Given the description of an element on the screen output the (x, y) to click on. 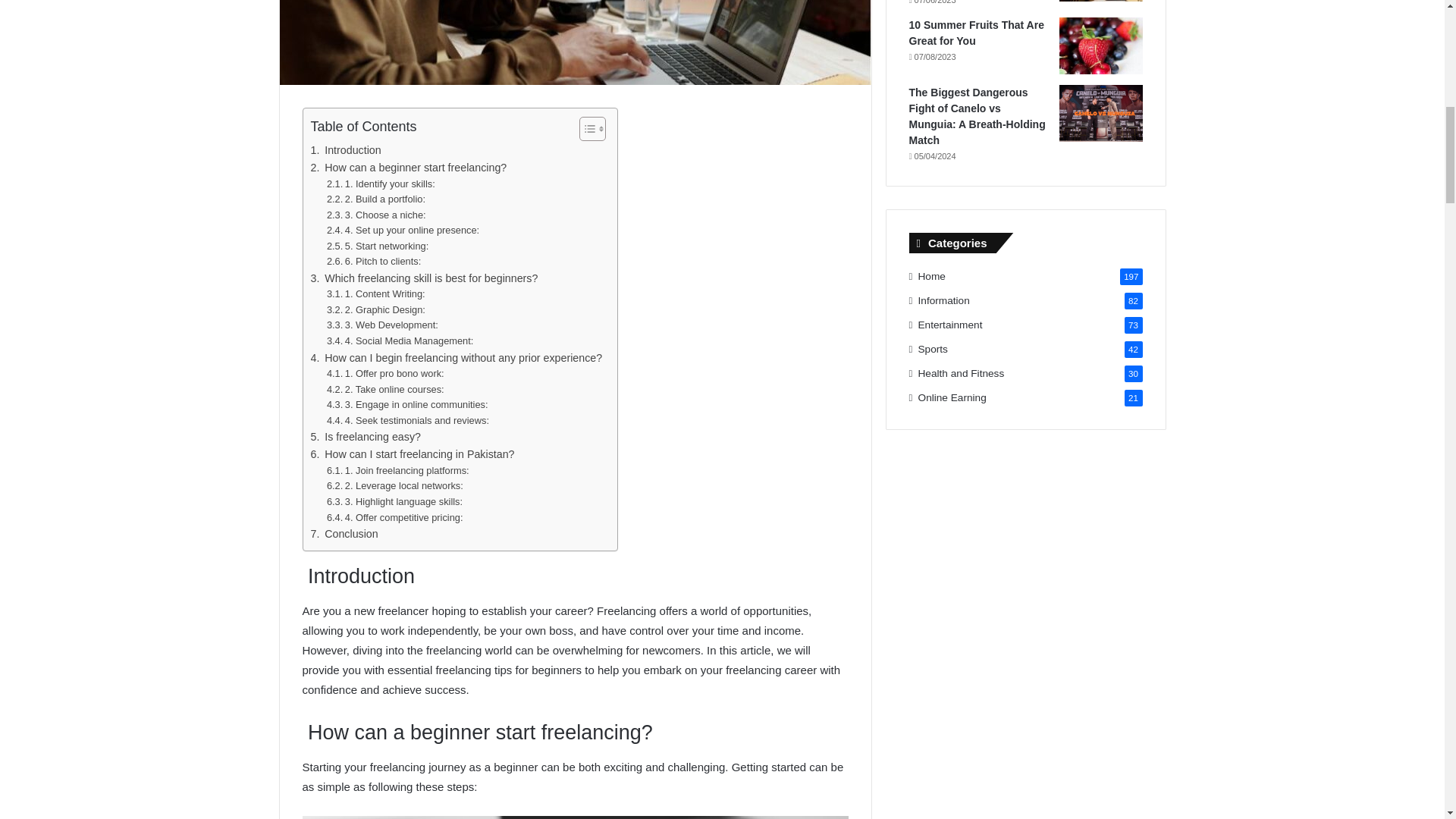
6. Pitch to clients:  (374, 261)
4. Set up your online presence: (402, 230)
1. Identify your skills: (380, 184)
5. Start networking: (377, 246)
2. Build a portfolio:  (377, 199)
1. Content Writing: (375, 294)
3. Choose a niche:  (377, 215)
